Given the description of an element on the screen output the (x, y) to click on. 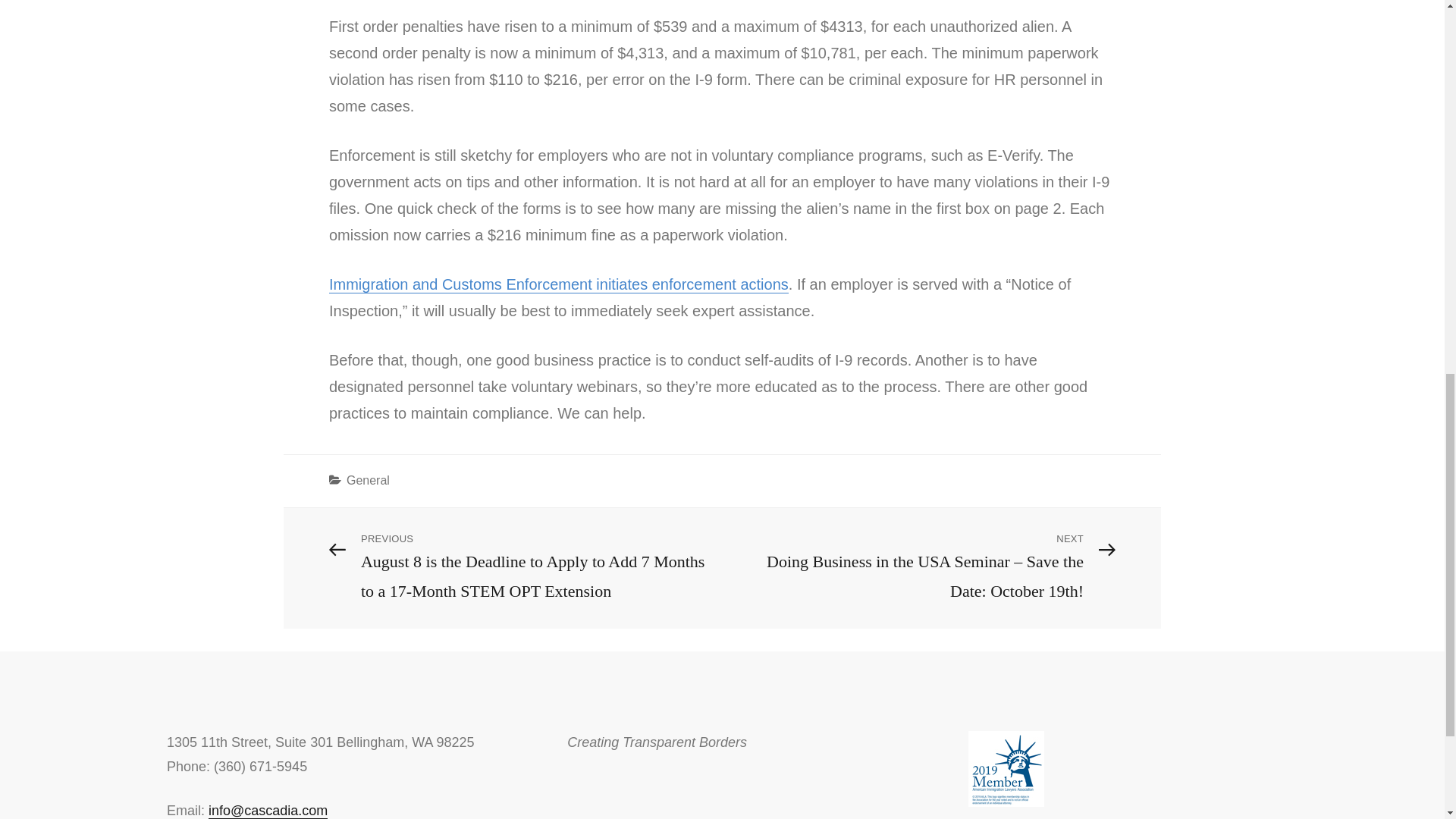
General (368, 480)
